Given the description of an element on the screen output the (x, y) to click on. 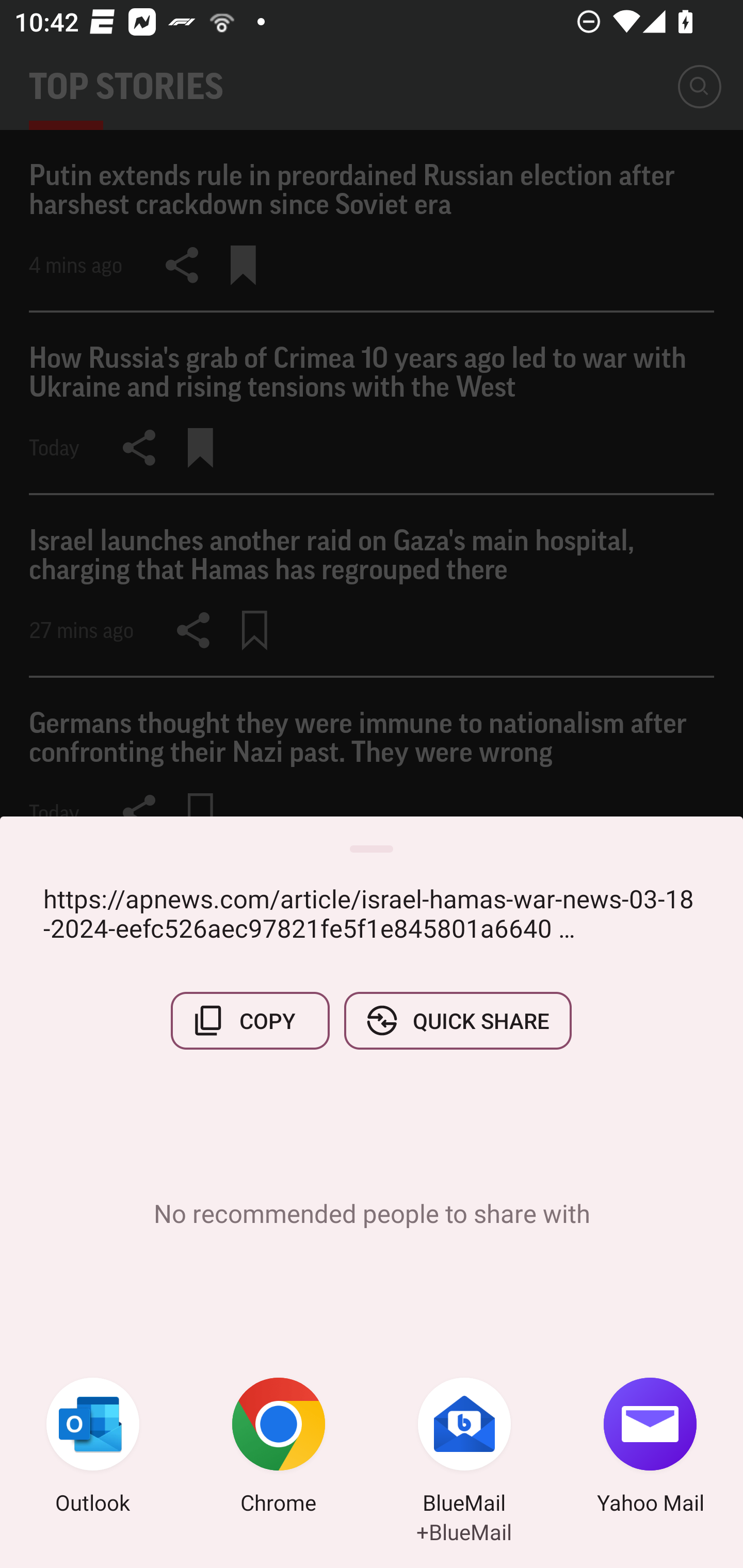
COPY (249, 1020)
QUICK SHARE (457, 1020)
Outlook (92, 1448)
Chrome (278, 1448)
BlueMail +BlueMail (464, 1448)
Yahoo Mail (650, 1448)
